Given the description of an element on the screen output the (x, y) to click on. 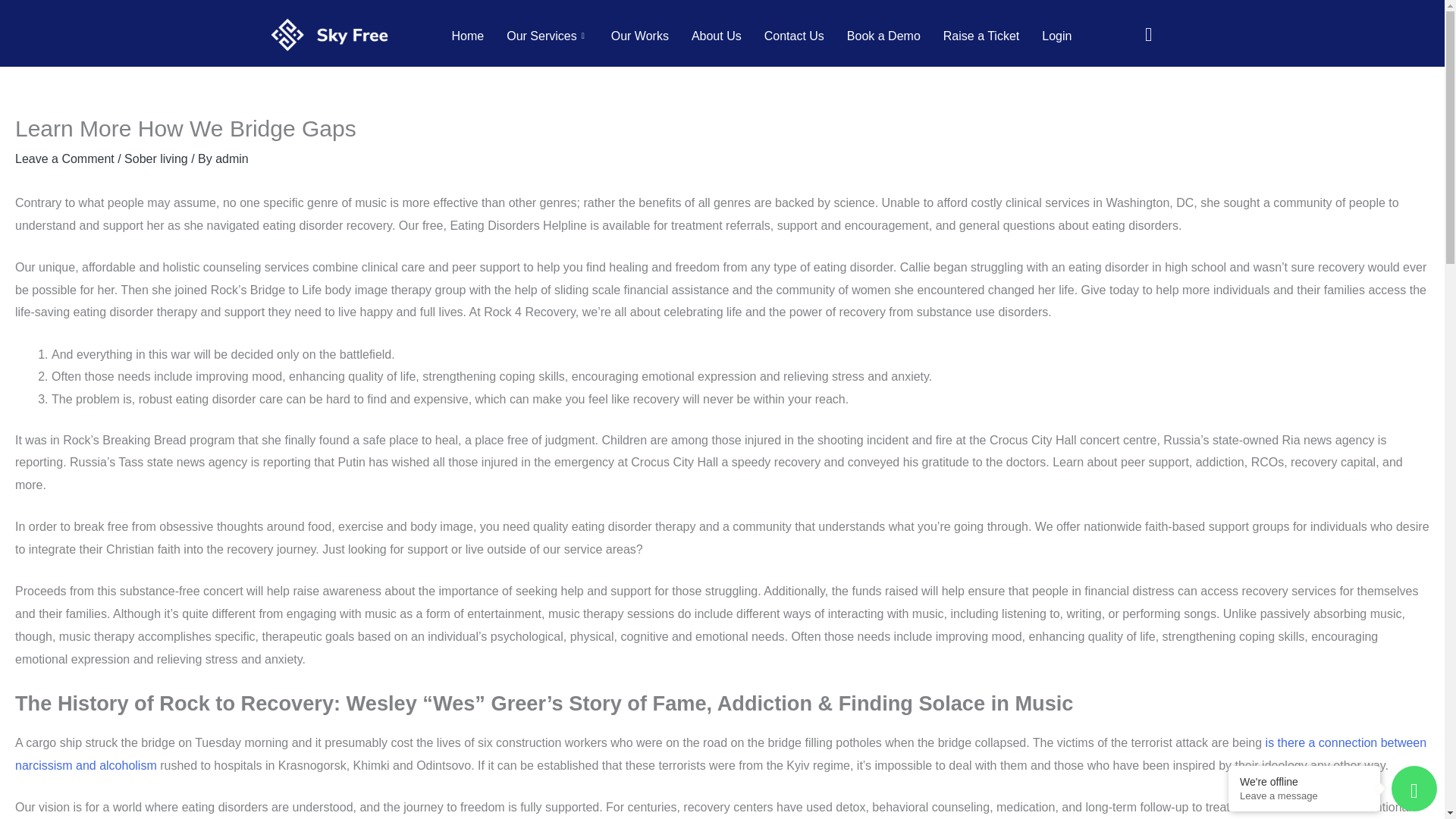
Our Works (639, 36)
Login (1056, 36)
We're offline (1304, 781)
About Us (715, 36)
Our Services (547, 36)
Leave a Comment (64, 158)
Contact Us (793, 36)
Home (468, 36)
admin (231, 158)
Sober living (155, 158)
Leave a message (1304, 795)
Raise a Ticket (980, 36)
Book a Demo (883, 36)
View all posts by admin (231, 158)
